Given the description of an element on the screen output the (x, y) to click on. 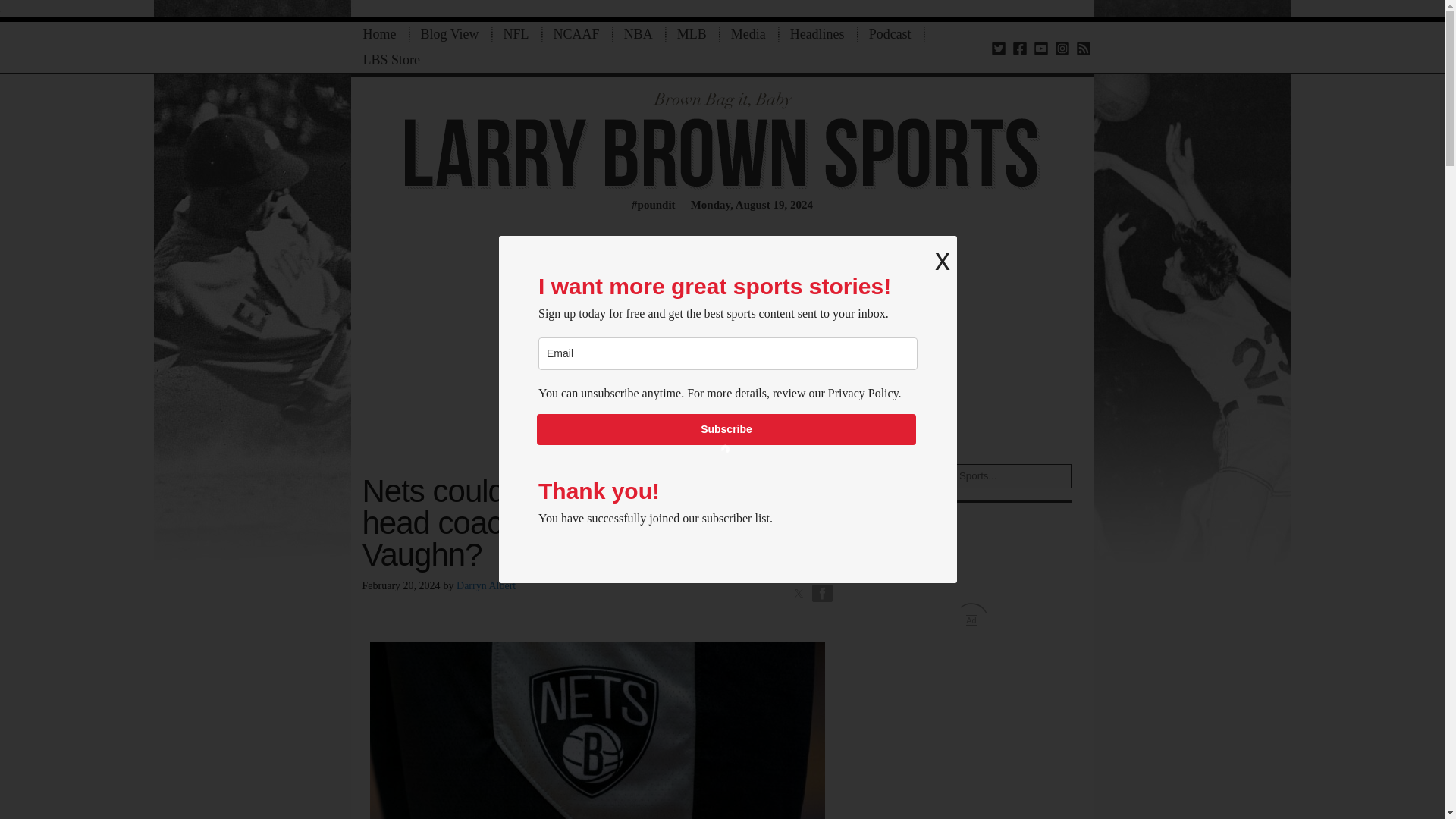
Blog View (448, 34)
Darryn Albert (486, 585)
NBA (638, 34)
Podcast (890, 34)
NCAAF (576, 34)
Headlines (817, 34)
Subscribe to Larry Brown Sports RSS Feed (1082, 47)
MLB (692, 34)
Privacy Policy (863, 392)
View Larry Brown Sports Instagram (1061, 47)
